Given the description of an element on the screen output the (x, y) to click on. 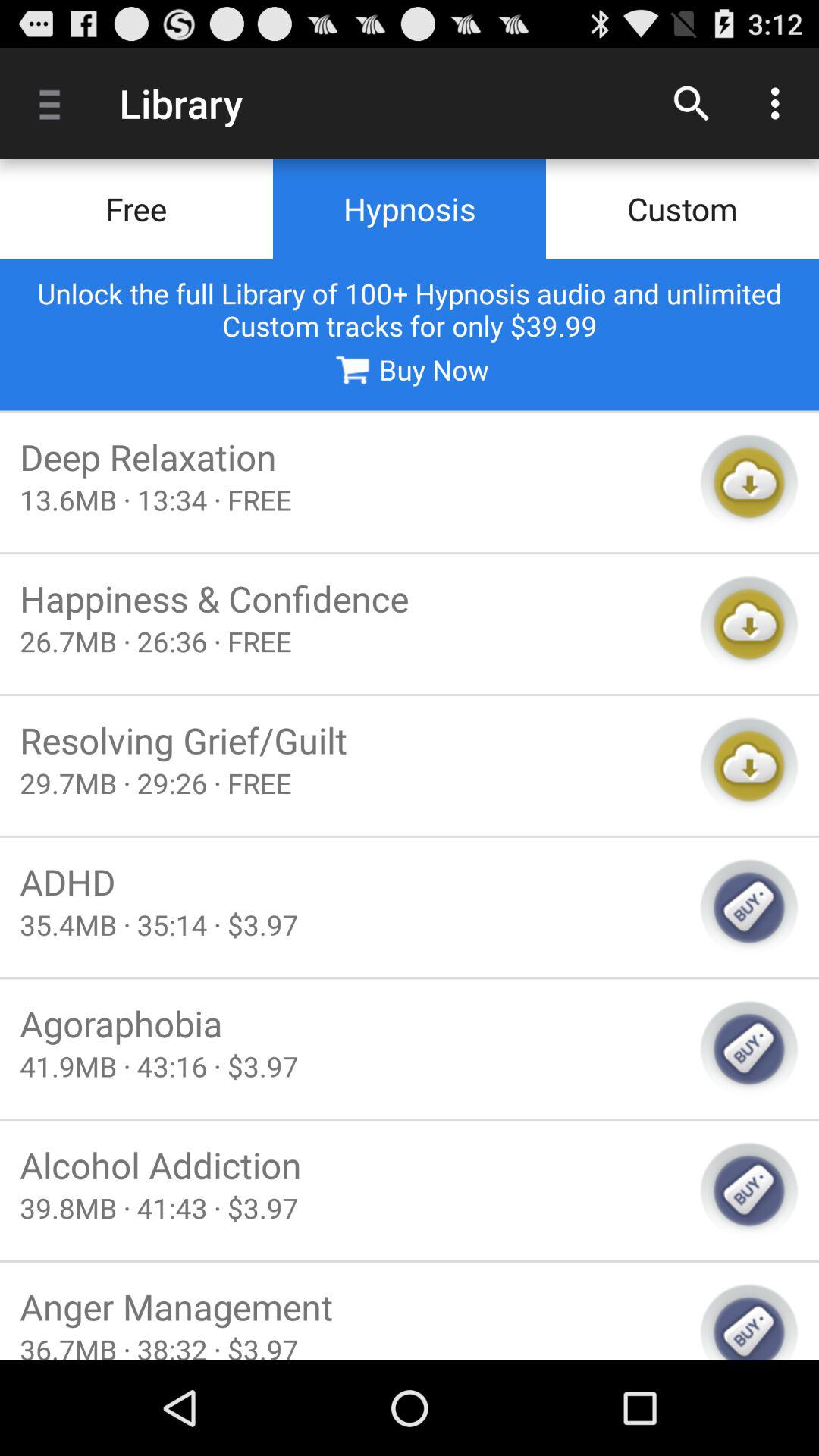
buy selected track (749, 907)
